Given the description of an element on the screen output the (x, y) to click on. 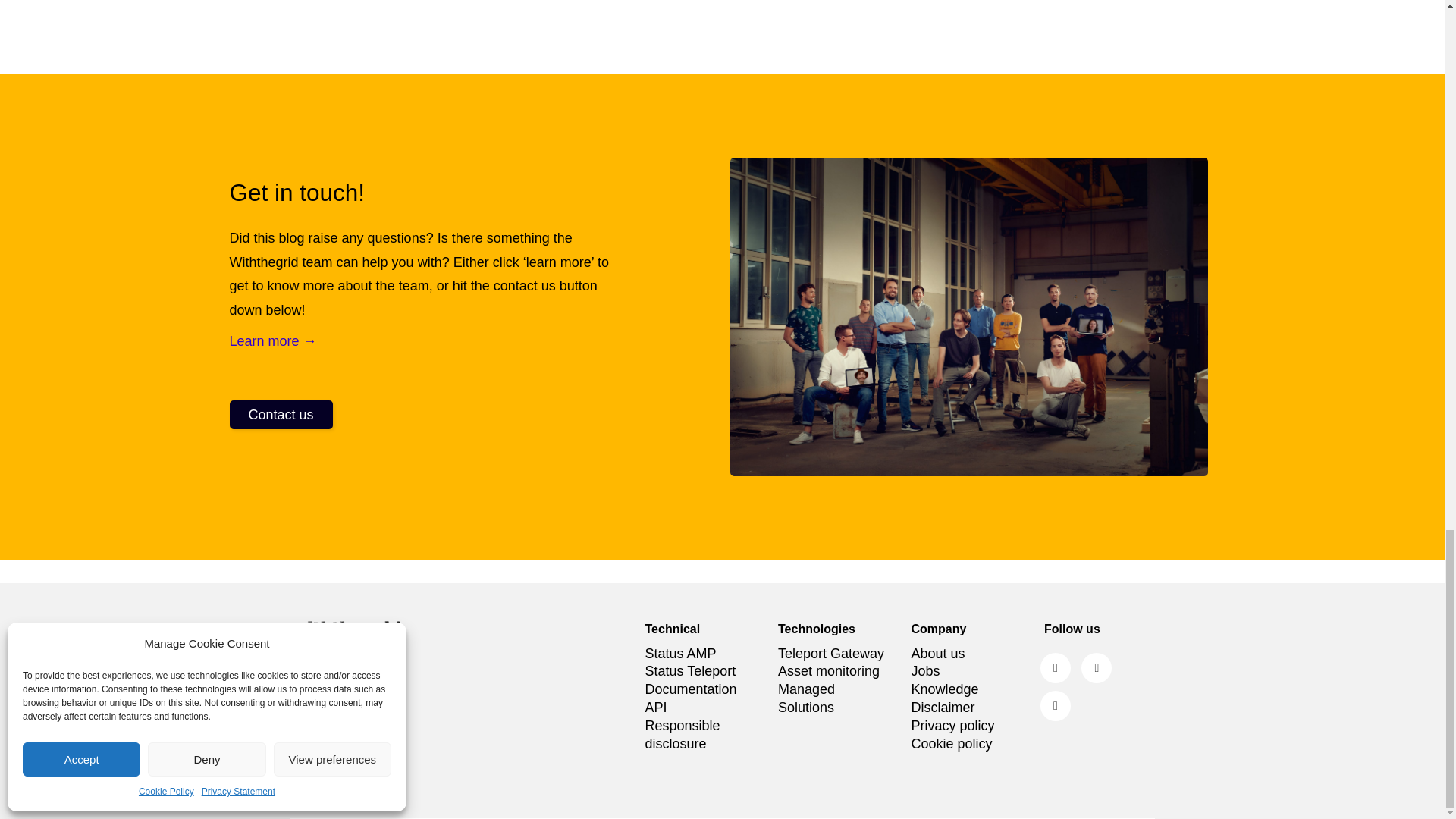
LinkedIn (1055, 667)
YouTube (1055, 706)
Twitter (1096, 667)
